Given the description of an element on the screen output the (x, y) to click on. 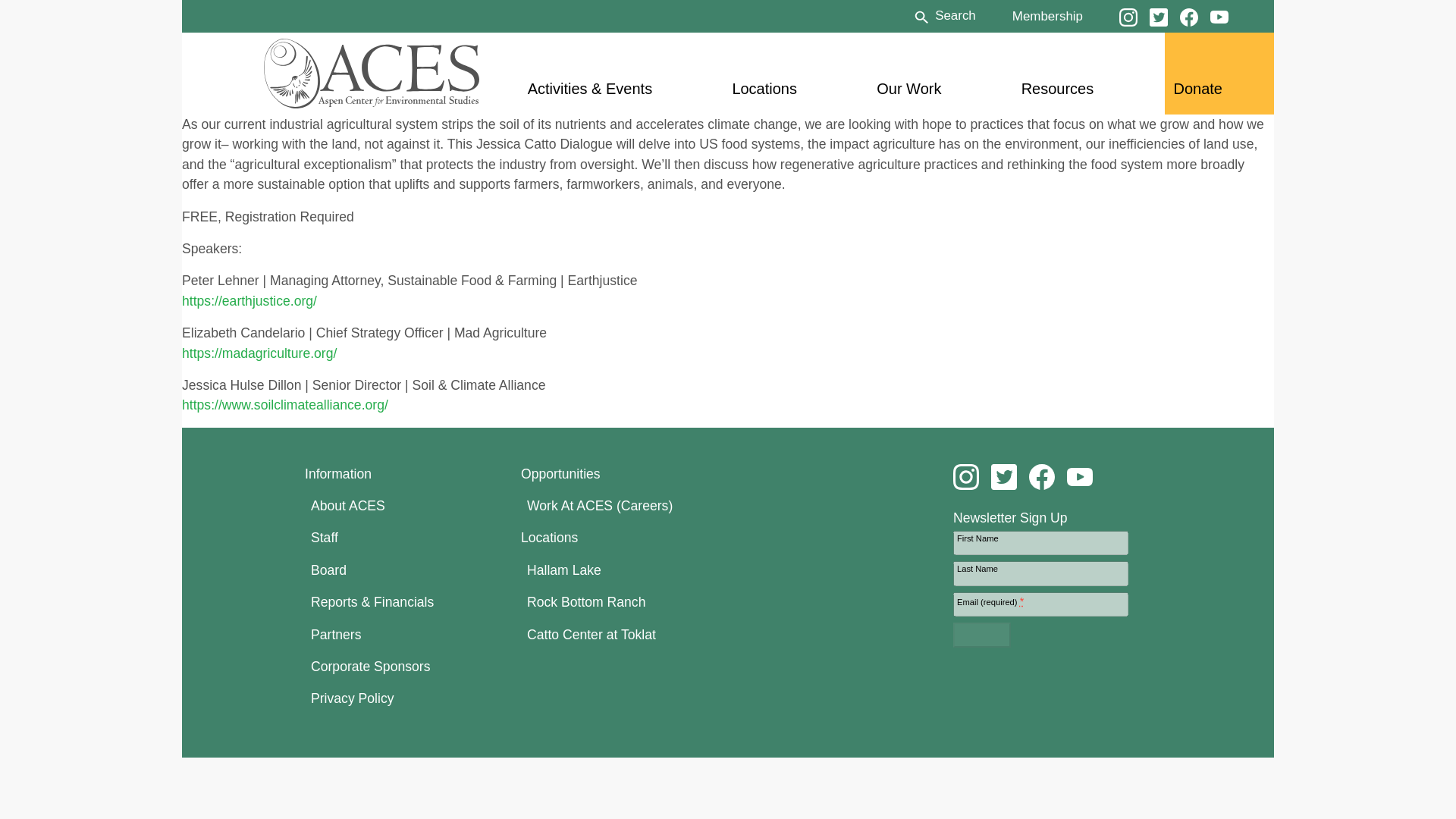
Search (943, 15)
Locations (764, 88)
Sign up (981, 634)
Our Work (908, 88)
Membership (1047, 15)
